Given the description of an element on the screen output the (x, y) to click on. 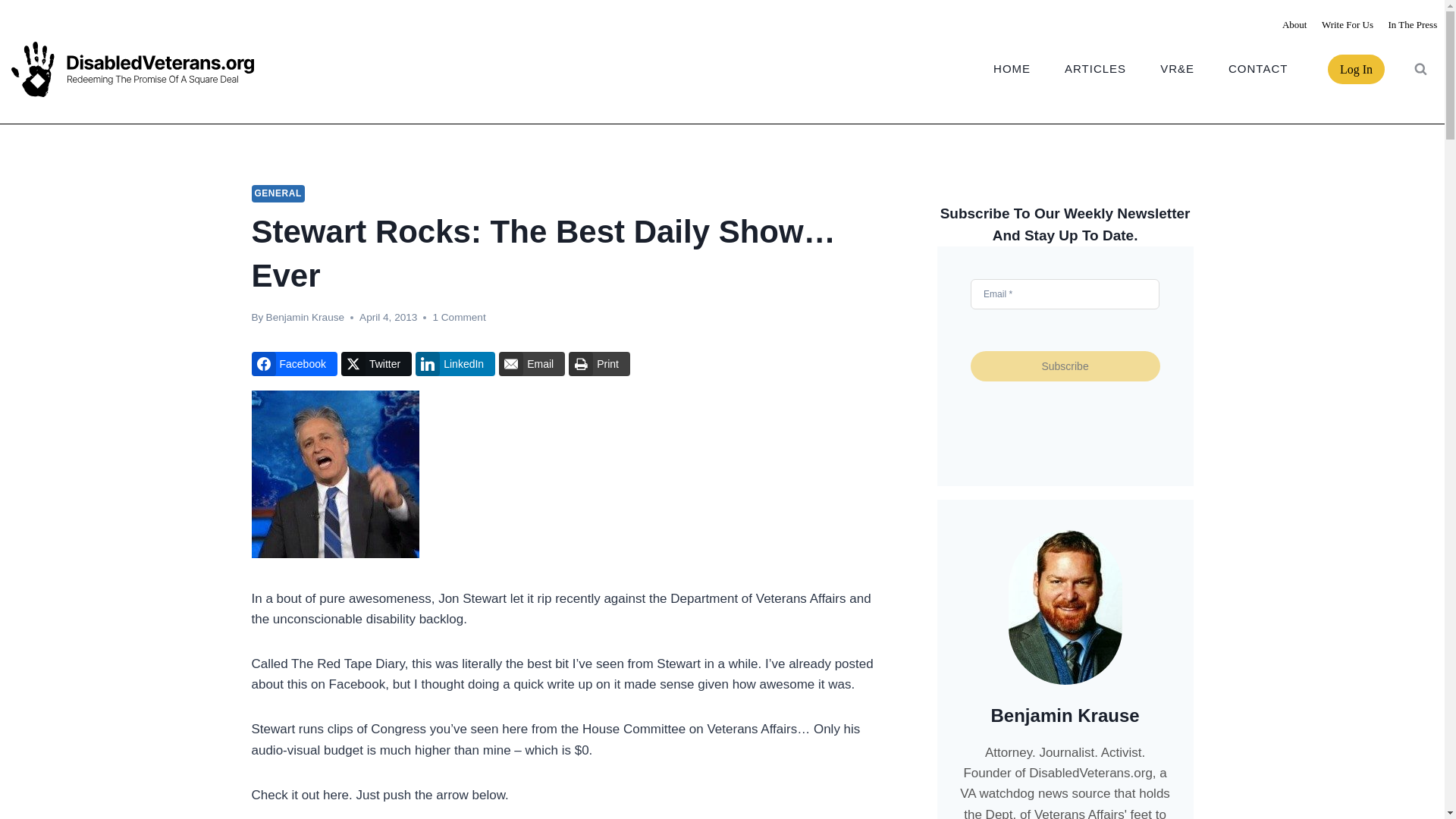
Print (599, 363)
1 Comment (458, 317)
CONTACT (1257, 68)
Email (531, 363)
HOME (1012, 68)
GENERAL (277, 193)
Write For Us (1347, 24)
LinkedIn (454, 363)
Share on LinkedIn (454, 363)
About (1294, 24)
Share on Print (599, 363)
Facebook (294, 363)
ARTICLES (1095, 68)
Share on Email (531, 363)
Twitter (376, 363)
